Given the description of an element on the screen output the (x, y) to click on. 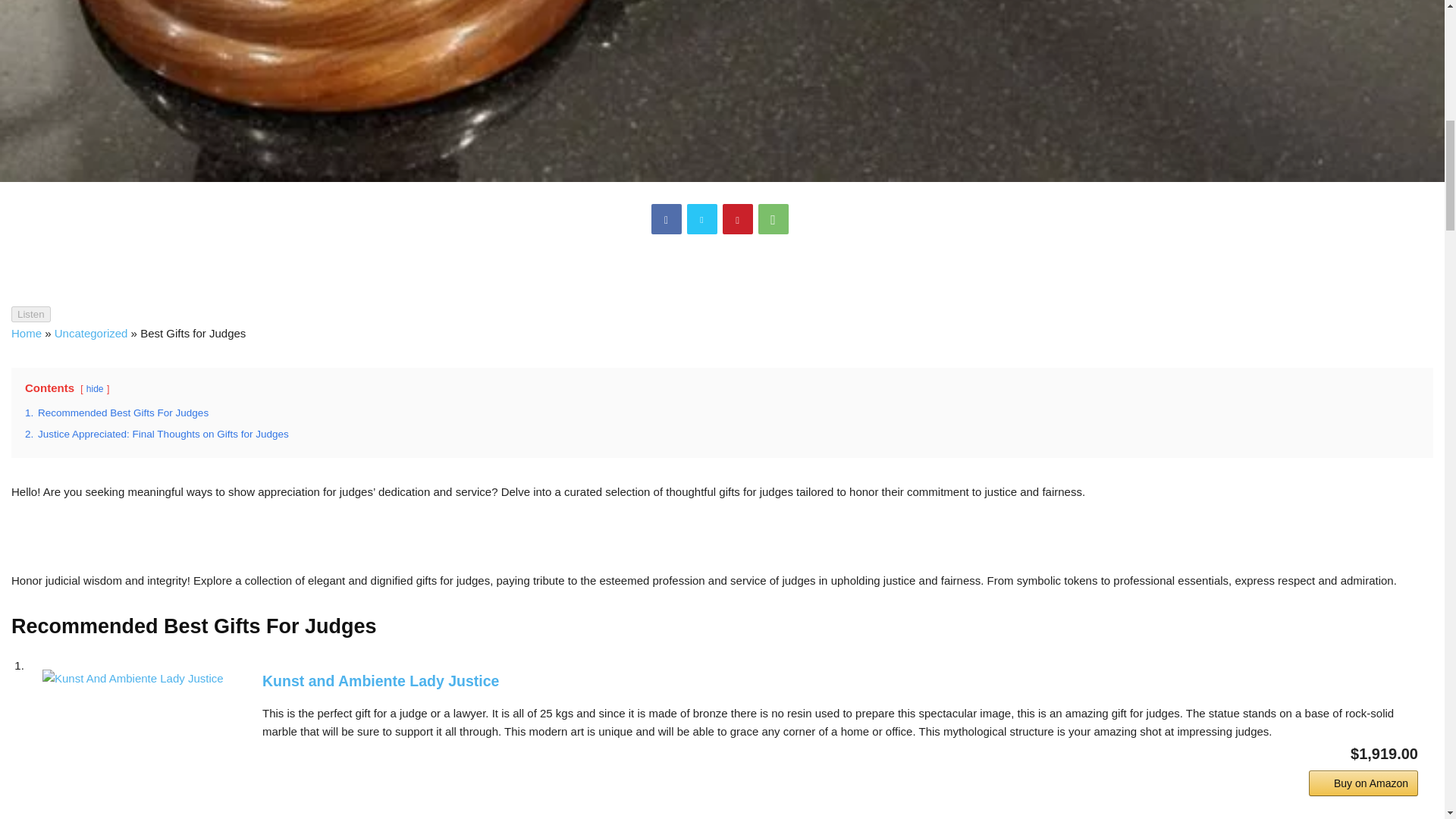
Twitter (702, 218)
Uncategorized (91, 332)
2. Justice Appreciated: Final Thoughts on Gifts for Judges (156, 433)
Buy on Amazon (1363, 783)
Kunst and Ambiente Lady Justice (840, 680)
Home (26, 332)
Kunst and Ambiente Lady Justice (840, 680)
hide (94, 388)
Pinterest (737, 218)
1. Recommended Best Gifts For Judges (116, 412)
10 Best Thoughtful Gifts For Judges: Elegant Gifts (136, 744)
Facebook (665, 218)
WhatsApp (773, 218)
